Given the description of an element on the screen output the (x, y) to click on. 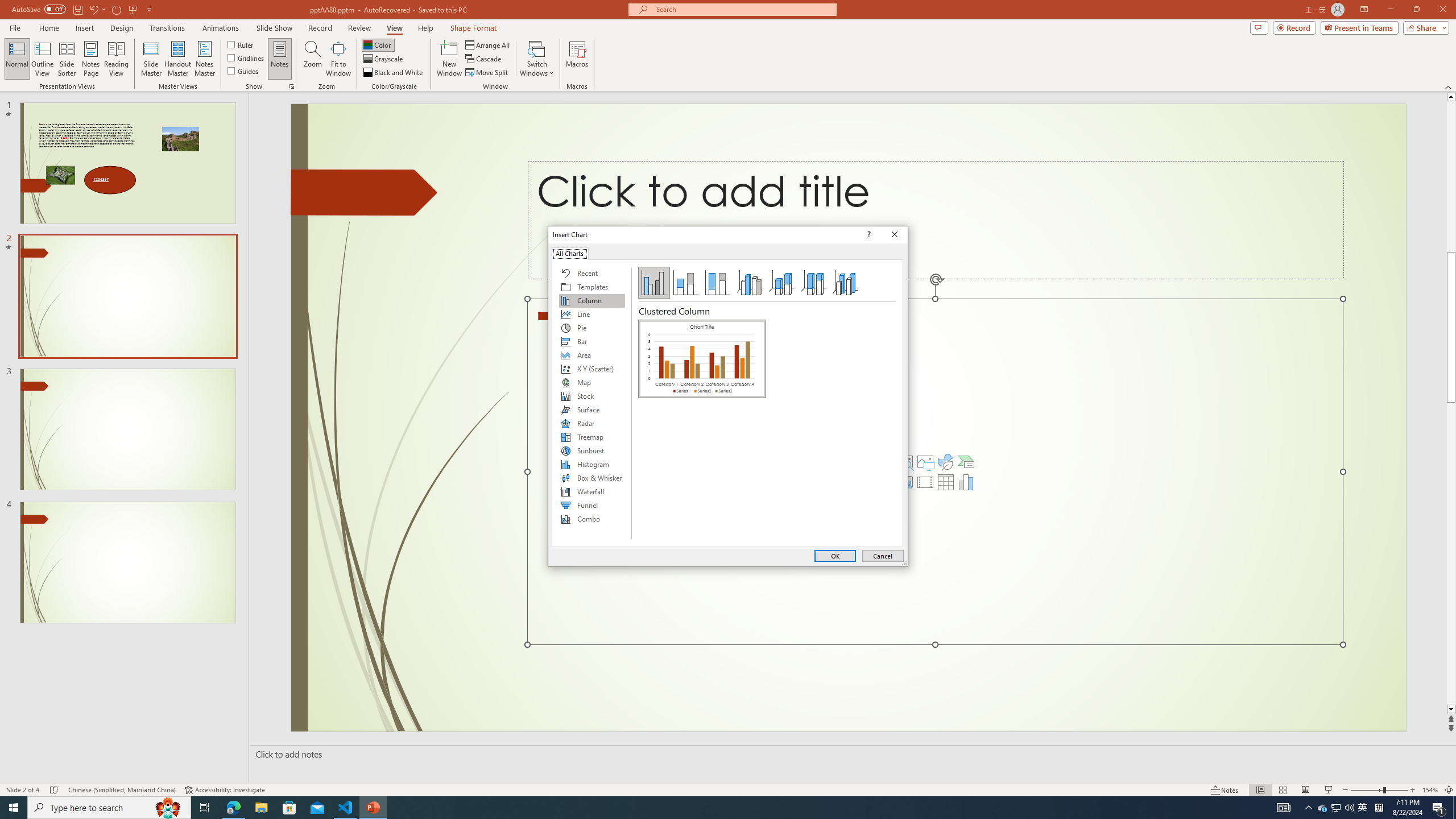
Templates (591, 287)
Insert Video (924, 482)
Zoom... (312, 58)
All Charts (569, 253)
Gridlines (246, 56)
Recent (591, 273)
Sunburst (591, 450)
